Given the description of an element on the screen output the (x, y) to click on. 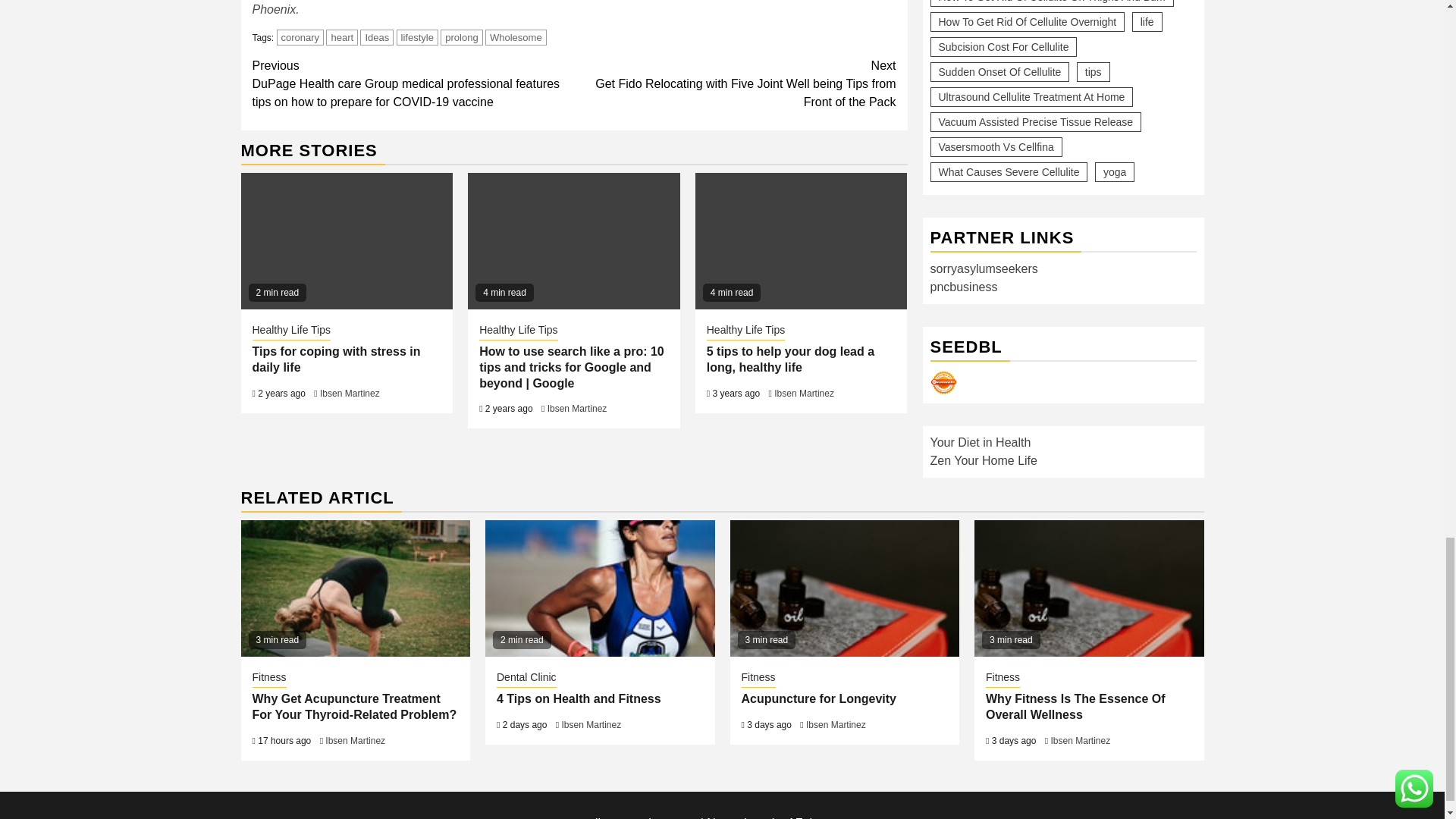
Ideas (376, 37)
lifestyle (417, 37)
prolong (461, 37)
coronary (300, 37)
Seedbacklink (943, 382)
heart (342, 37)
Wholesome (515, 37)
